Given the description of an element on the screen output the (x, y) to click on. 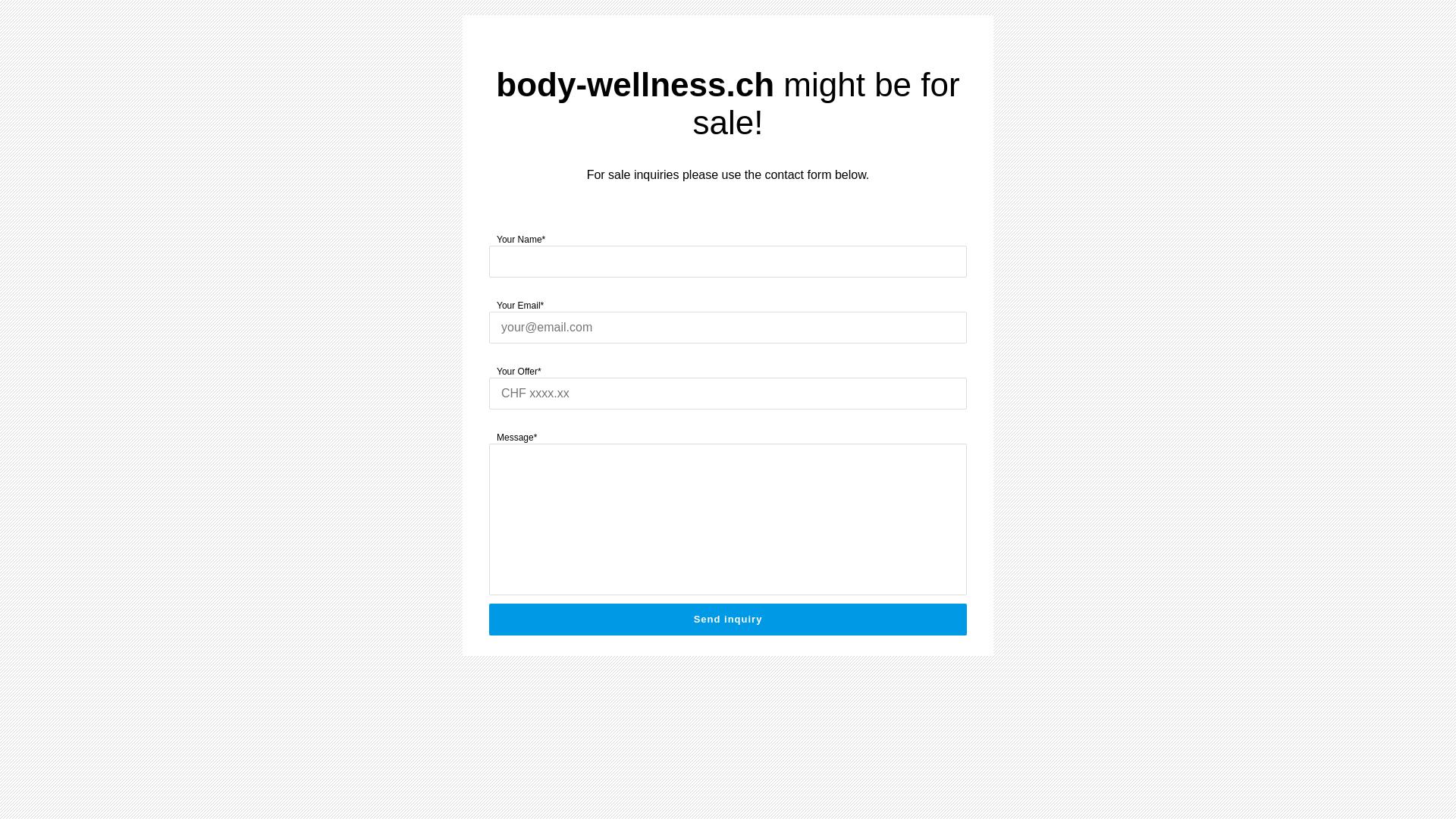
Send inquiry Element type: text (727, 619)
